Given the description of an element on the screen output the (x, y) to click on. 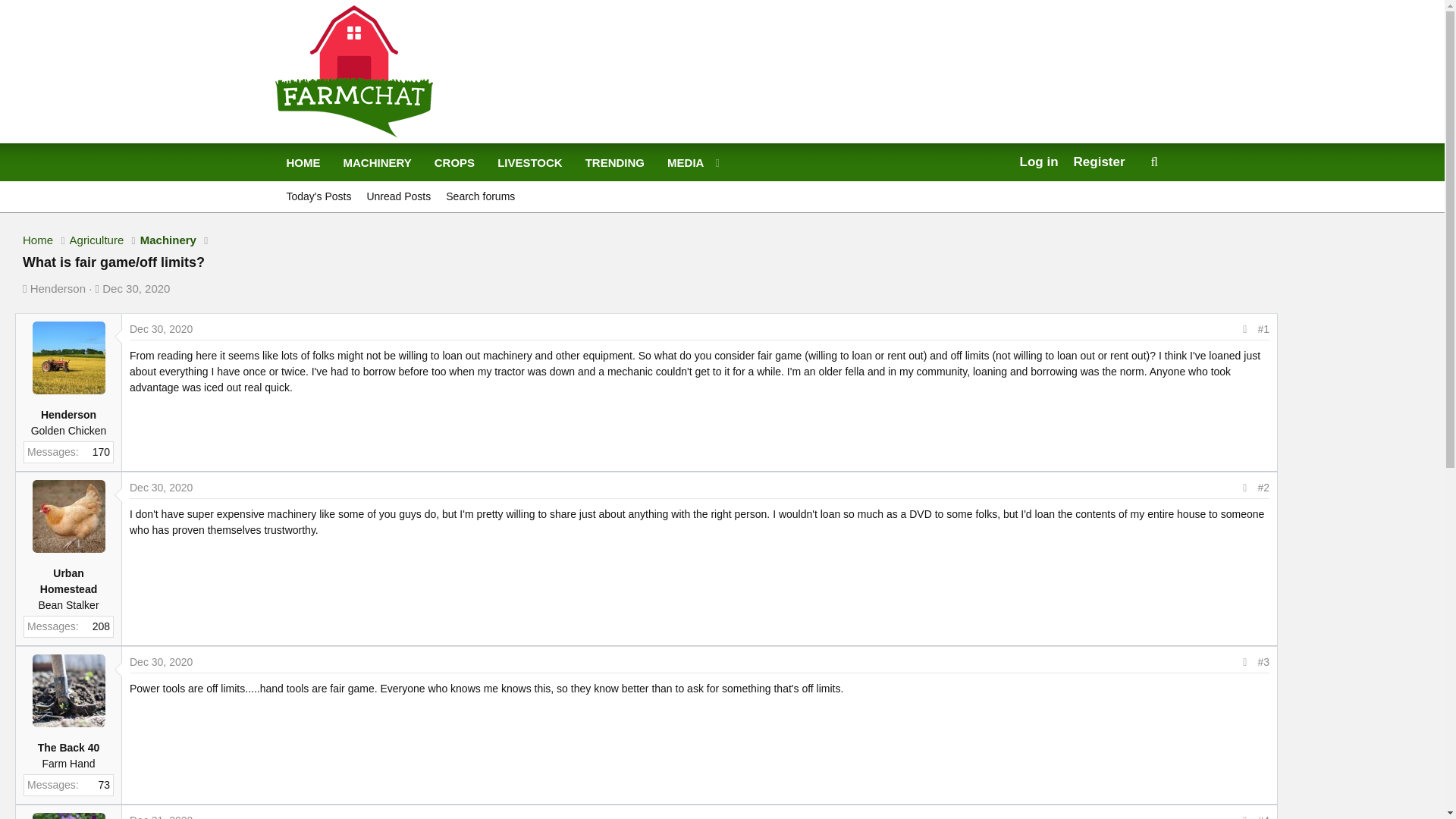
Dec 30, 2020 at 3:22 PM (500, 162)
Machinery (500, 180)
Dec 30, 2020 at 9:09 PM (160, 328)
Dec 30, 2020 at 4:10 PM (167, 240)
Dec 30, 2020 (160, 661)
Henderson (160, 486)
TRENDING (160, 328)
Urban Homestead (68, 357)
